Given the description of an element on the screen output the (x, y) to click on. 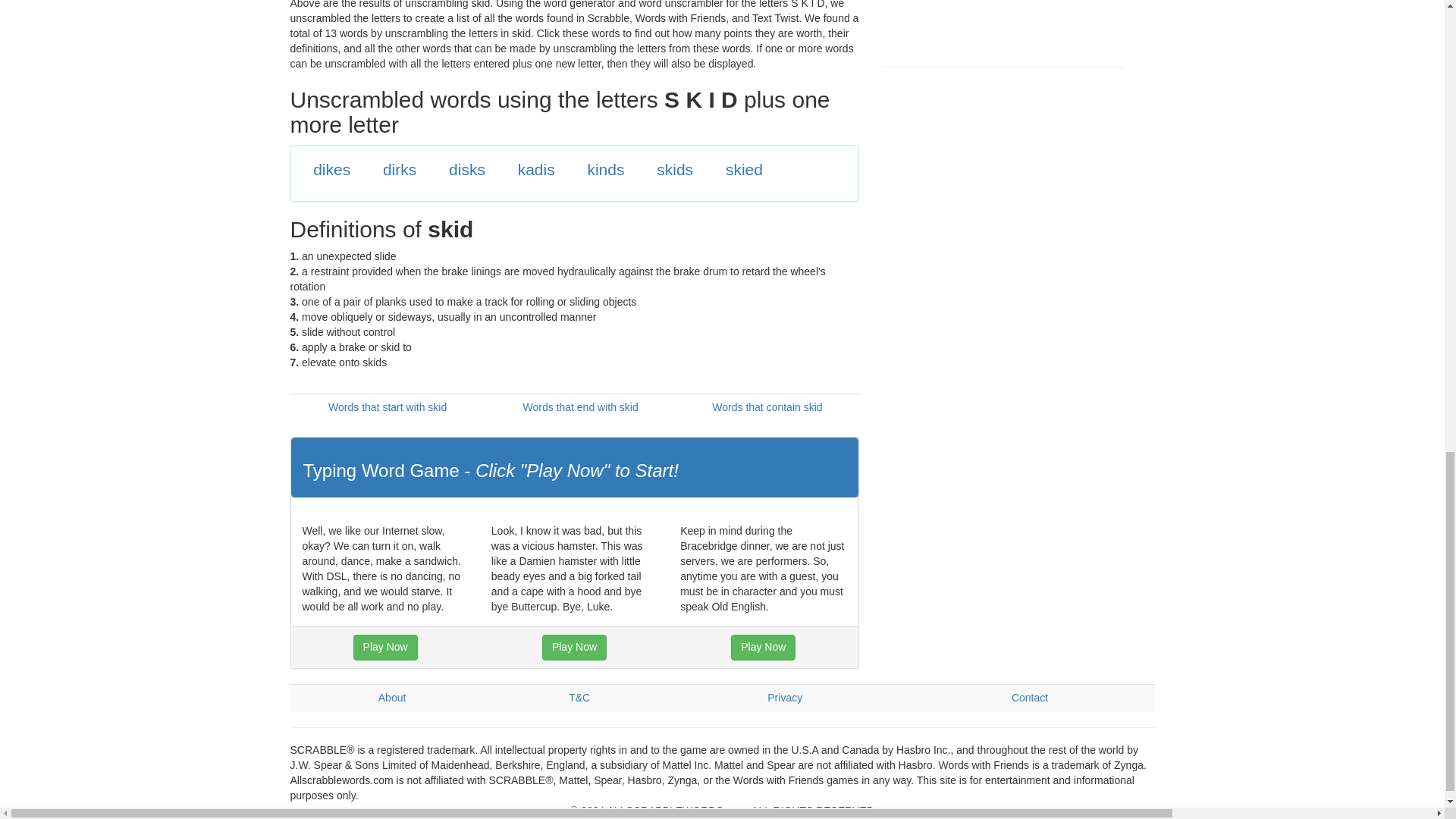
kadis (536, 169)
Privacy (784, 697)
Words that contain skid (766, 407)
skids (674, 169)
kinds (605, 169)
dikes (331, 169)
Play Now (385, 647)
About (392, 697)
Play Now (762, 647)
Words that end with skid (579, 407)
